Given the description of an element on the screen output the (x, y) to click on. 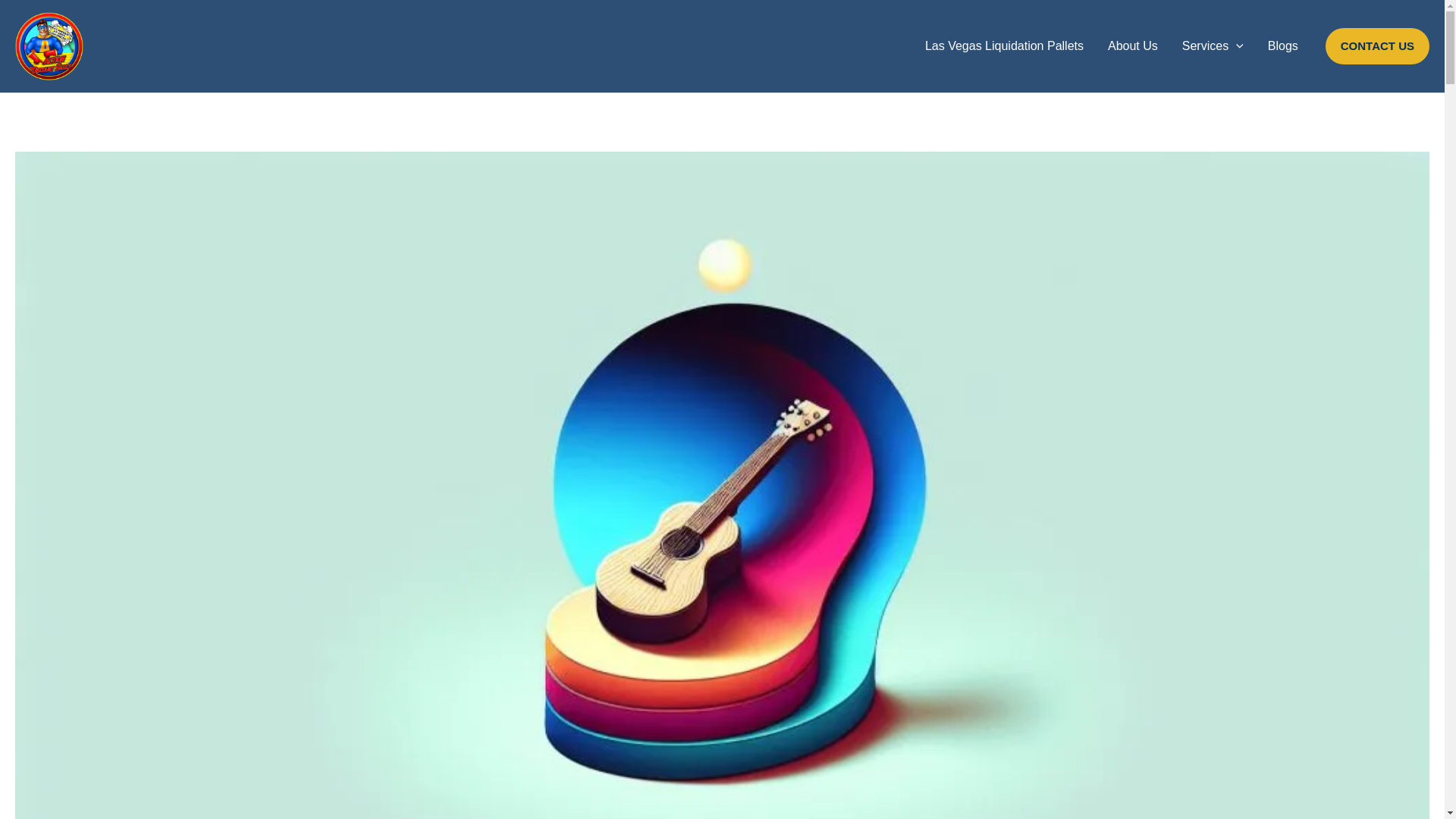
CONTACT US (1376, 45)
Blogs (1282, 45)
About Us (1133, 45)
Las Vegas Liquidation Pallets (1004, 45)
Services (1212, 45)
